Given the description of an element on the screen output the (x, y) to click on. 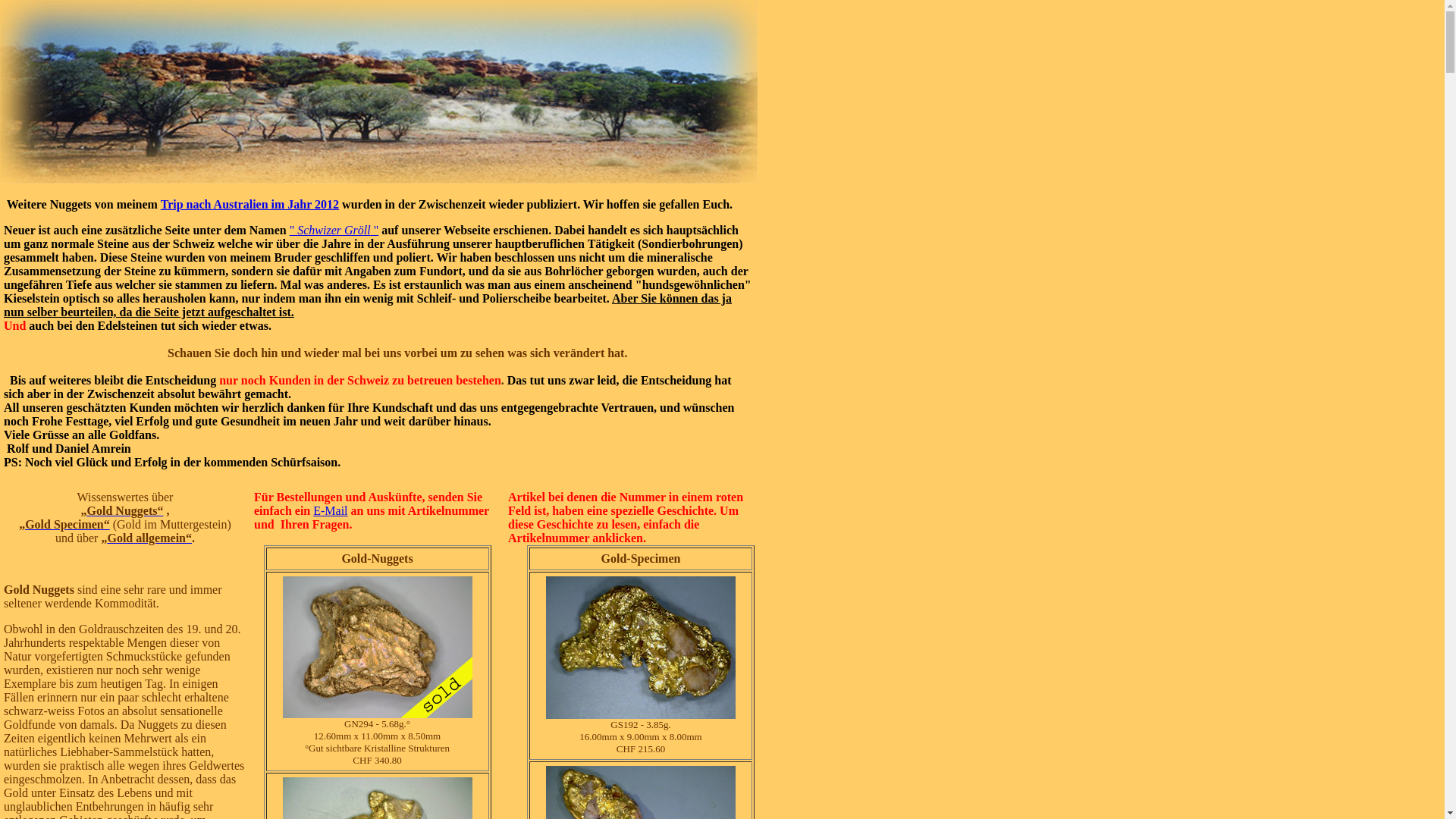
Gold allgemein Element type: text (145, 537)
E-Mail Element type: text (330, 510)
Trip nach Australien im Jahr 2012 Element type: text (249, 203)
